Given the description of an element on the screen output the (x, y) to click on. 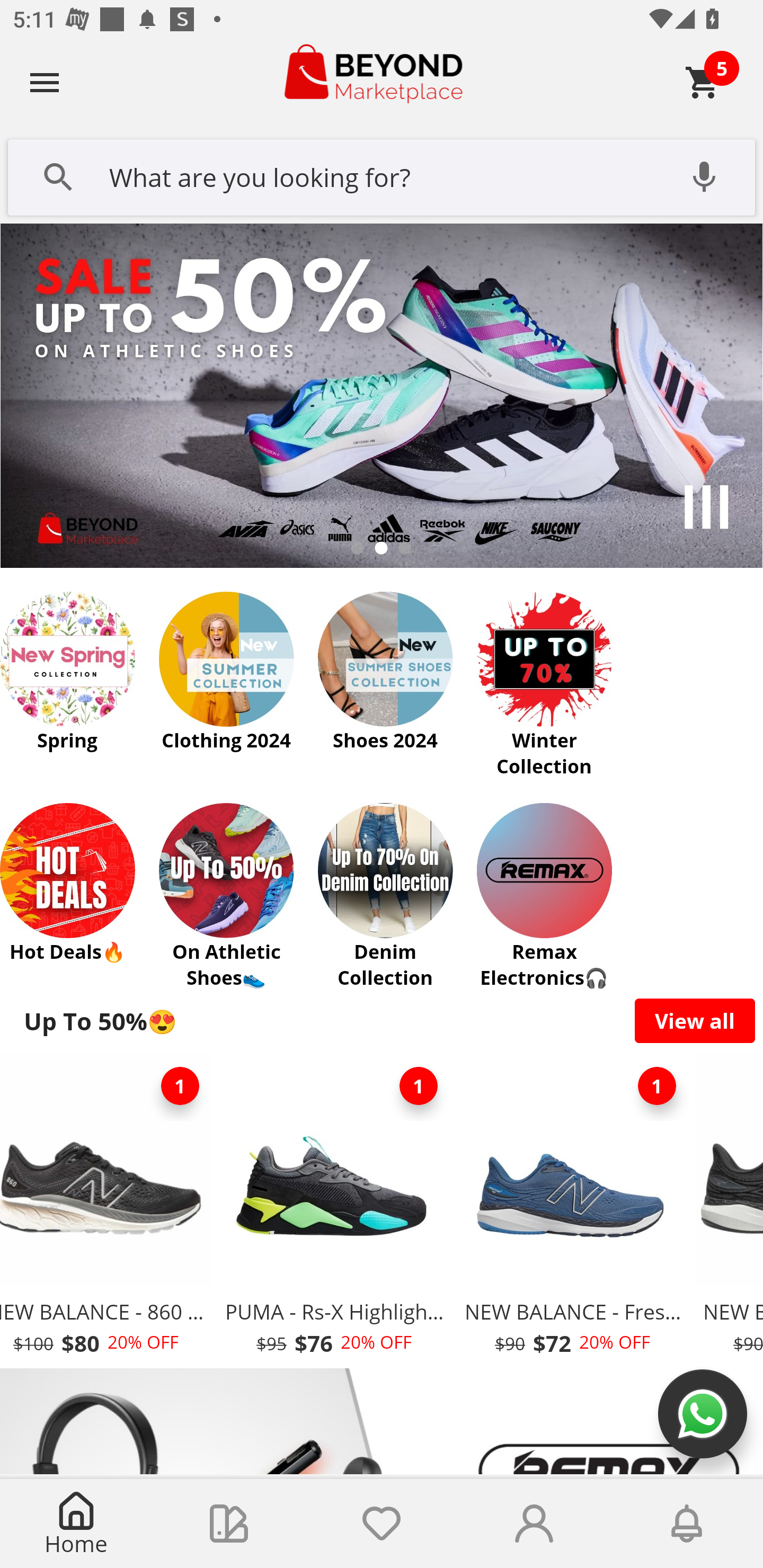
Navigate up (44, 82)
What are you looking for? (381, 175)
View all (694, 1020)
1 NEW BALANCE - 860 Running Shoes $100 $80 20% OFF (107, 1209)
1 (179, 1085)
1 (418, 1085)
1 (656, 1085)
Collections (228, 1523)
Wishlist (381, 1523)
Account (533, 1523)
Notifications (686, 1523)
